Given the description of an element on the screen output the (x, y) to click on. 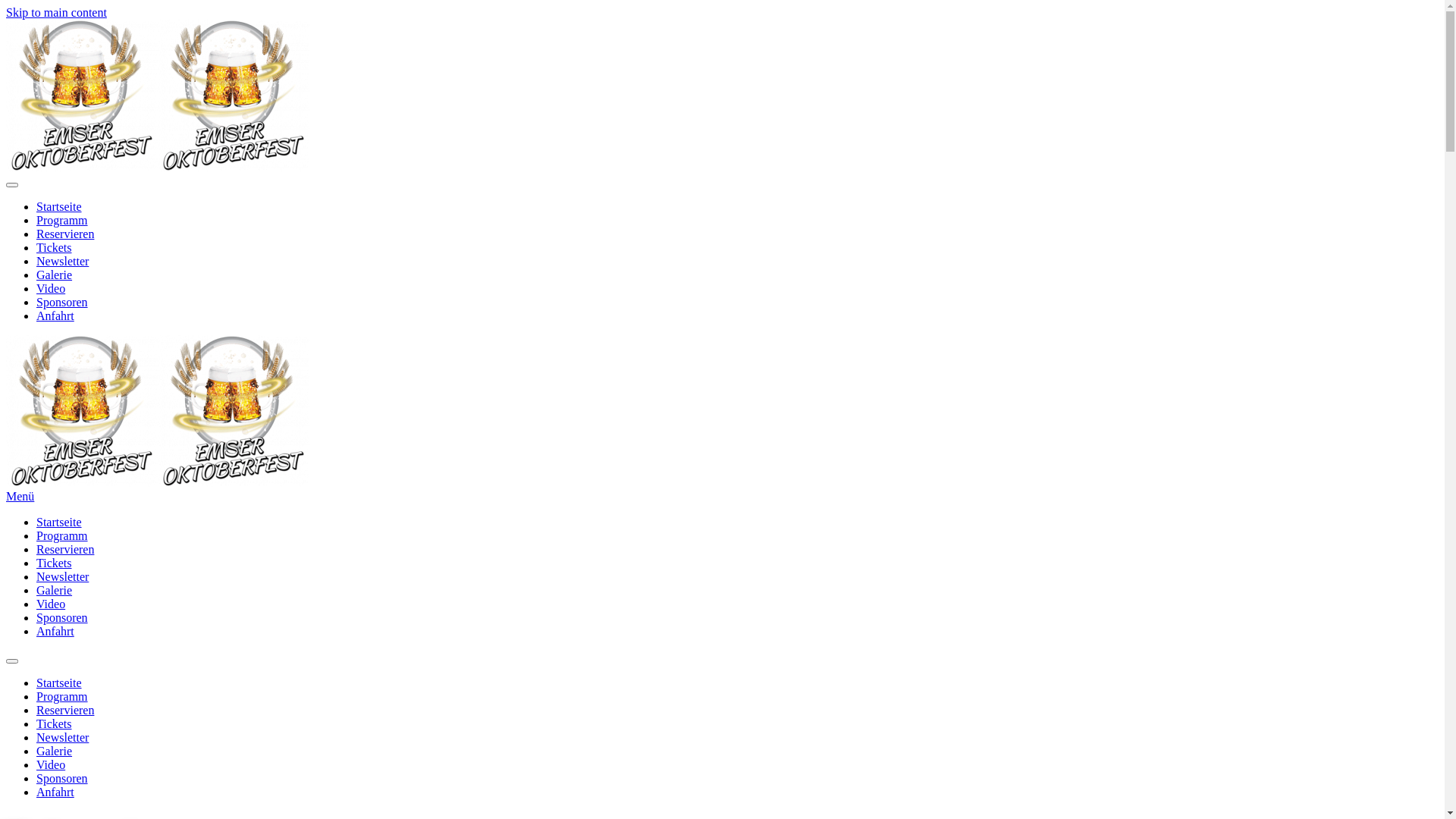
Programm Element type: text (61, 696)
Sponsoren Element type: text (61, 777)
Newsletter Element type: text (62, 576)
Tickets Element type: text (54, 562)
Anfahrt Element type: text (55, 315)
Galerie Element type: text (54, 589)
Tickets Element type: text (54, 247)
Galerie Element type: text (54, 750)
Startseite Element type: text (58, 206)
Skip to main content Element type: text (56, 12)
Newsletter Element type: text (62, 737)
Startseite Element type: text (58, 682)
Galerie Element type: text (54, 274)
Reservieren Element type: text (65, 709)
Reservieren Element type: text (65, 233)
Newsletter Element type: text (62, 260)
Programm Element type: text (61, 219)
Video Element type: text (50, 603)
Video Element type: text (50, 764)
Anfahrt Element type: text (55, 630)
Sponsoren Element type: text (61, 617)
Startseite Element type: text (58, 521)
Tickets Element type: text (54, 723)
Sponsoren Element type: text (61, 301)
Reservieren Element type: text (65, 548)
Anfahrt Element type: text (55, 791)
Programm Element type: text (61, 535)
Video Element type: text (50, 288)
